Given the description of an element on the screen output the (x, y) to click on. 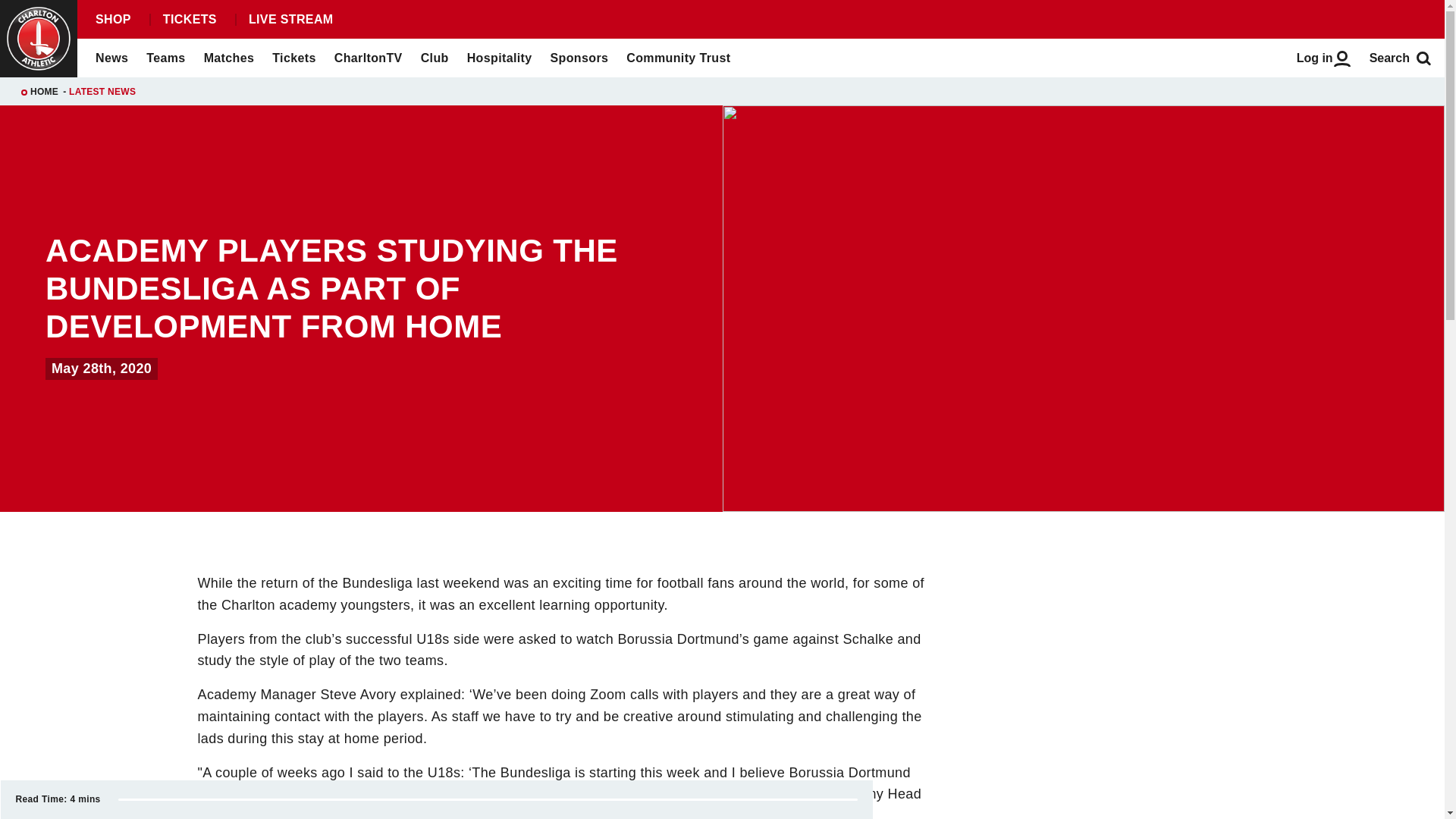
TICKETS (188, 19)
SHOP (112, 19)
LIVE STREAM (290, 19)
Teams (165, 57)
News (112, 57)
Teams (165, 57)
News (112, 57)
Matches (228, 57)
